Given the description of an element on the screen output the (x, y) to click on. 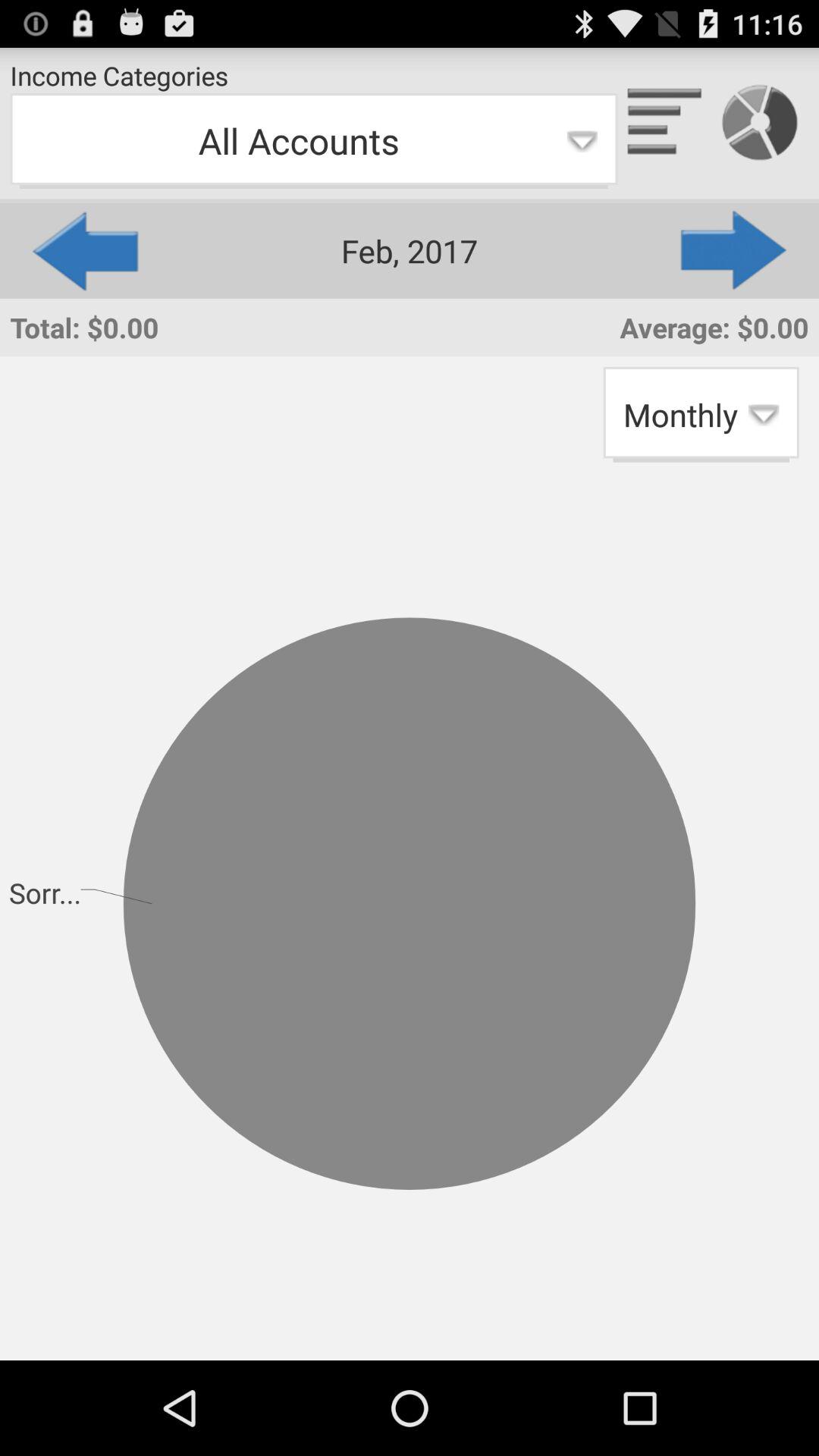
go to next day (735, 250)
